Given the description of an element on the screen output the (x, y) to click on. 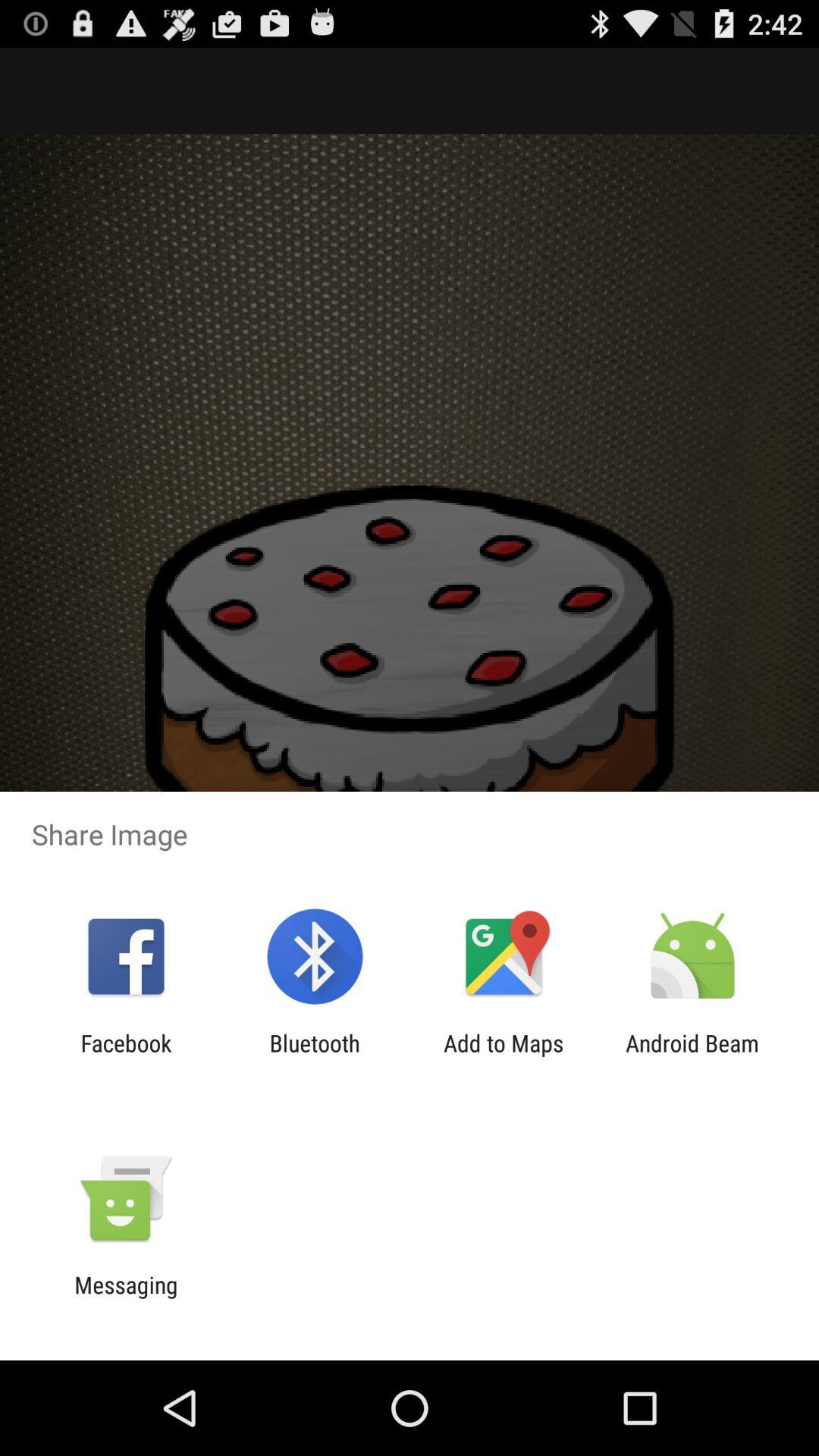
jump until the add to maps app (503, 1056)
